Given the description of an element on the screen output the (x, y) to click on. 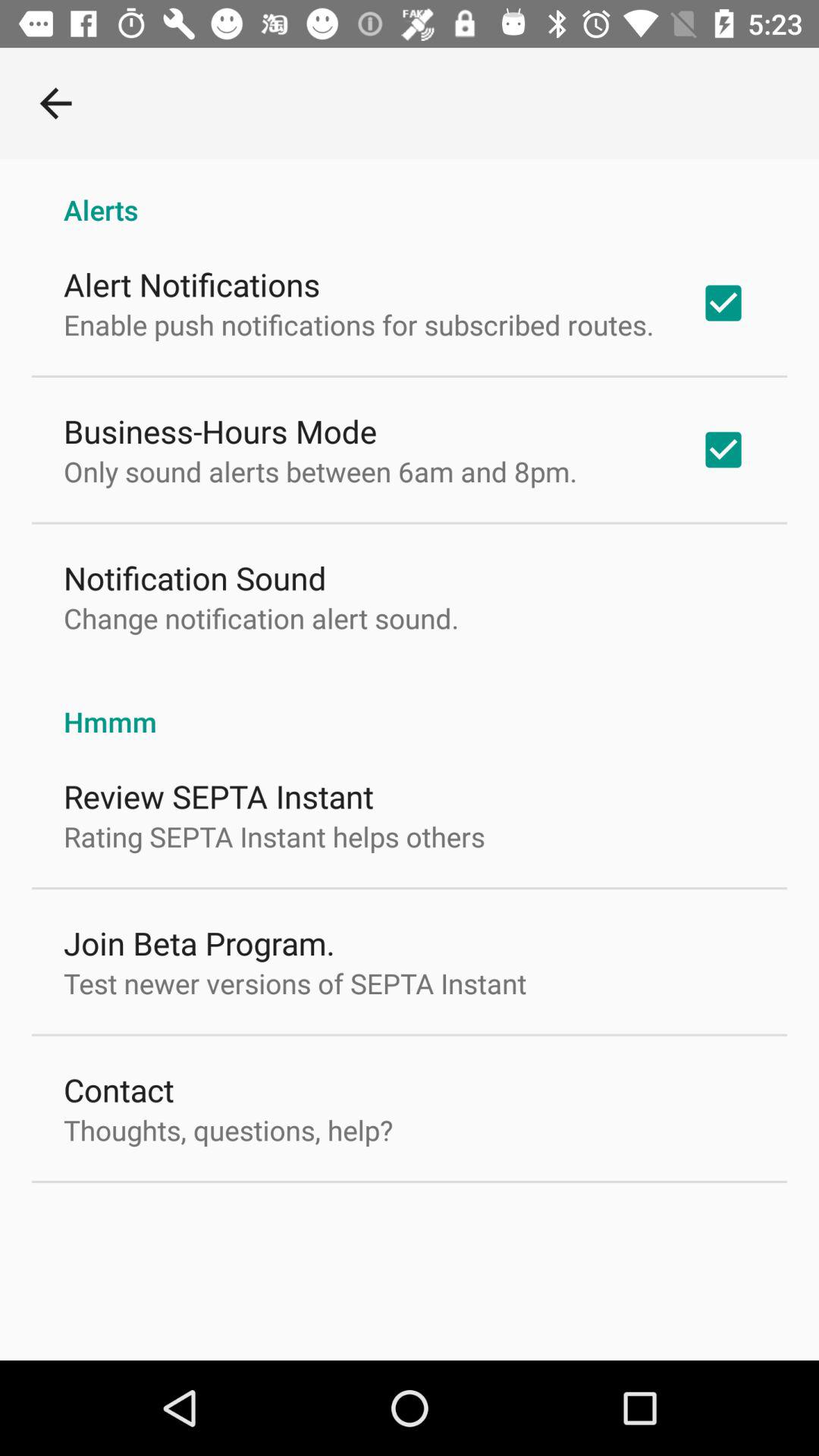
choose contact (118, 1089)
